Given the description of an element on the screen output the (x, y) to click on. 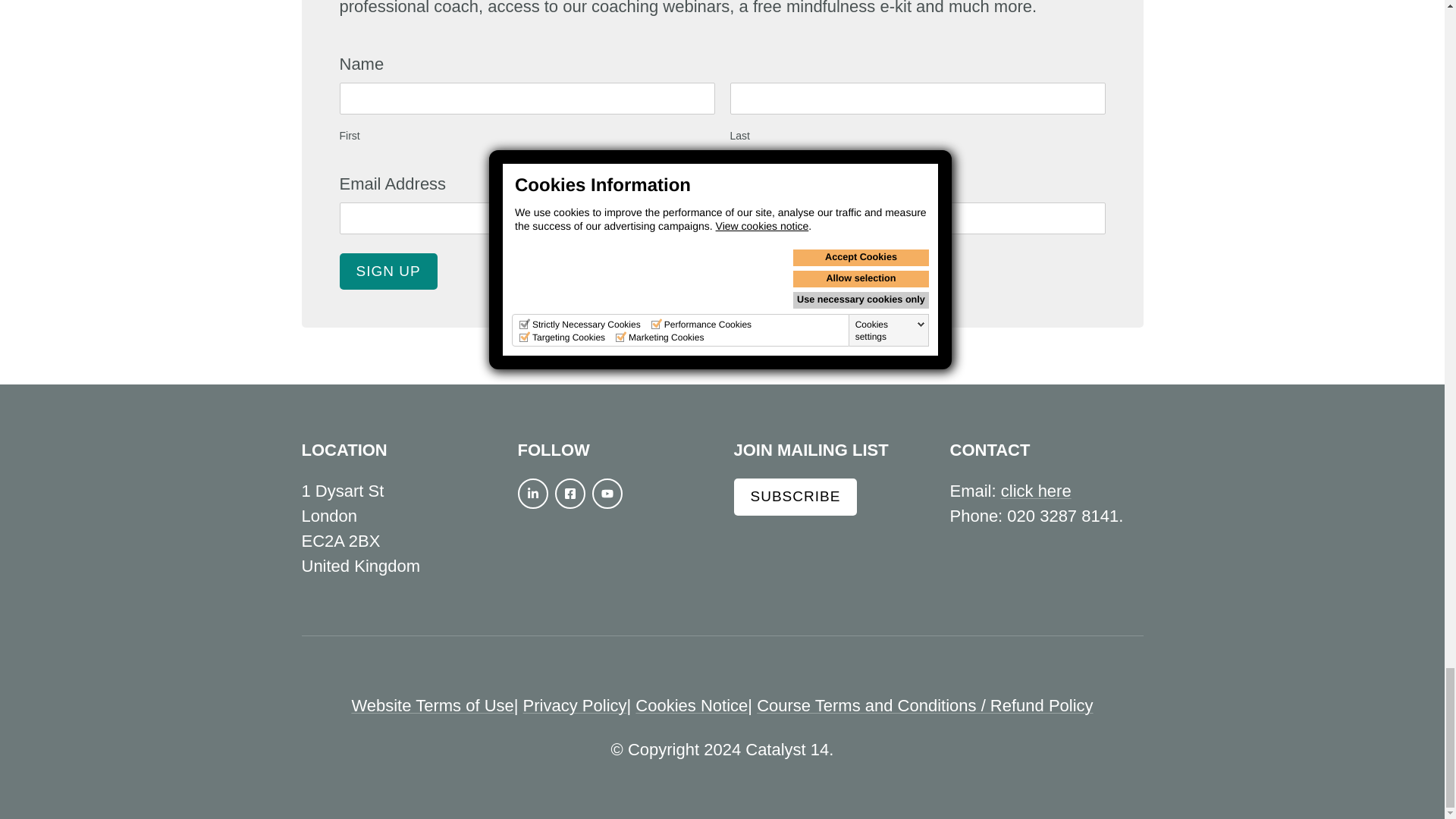
Sign Up (388, 271)
